Given the description of an element on the screen output the (x, y) to click on. 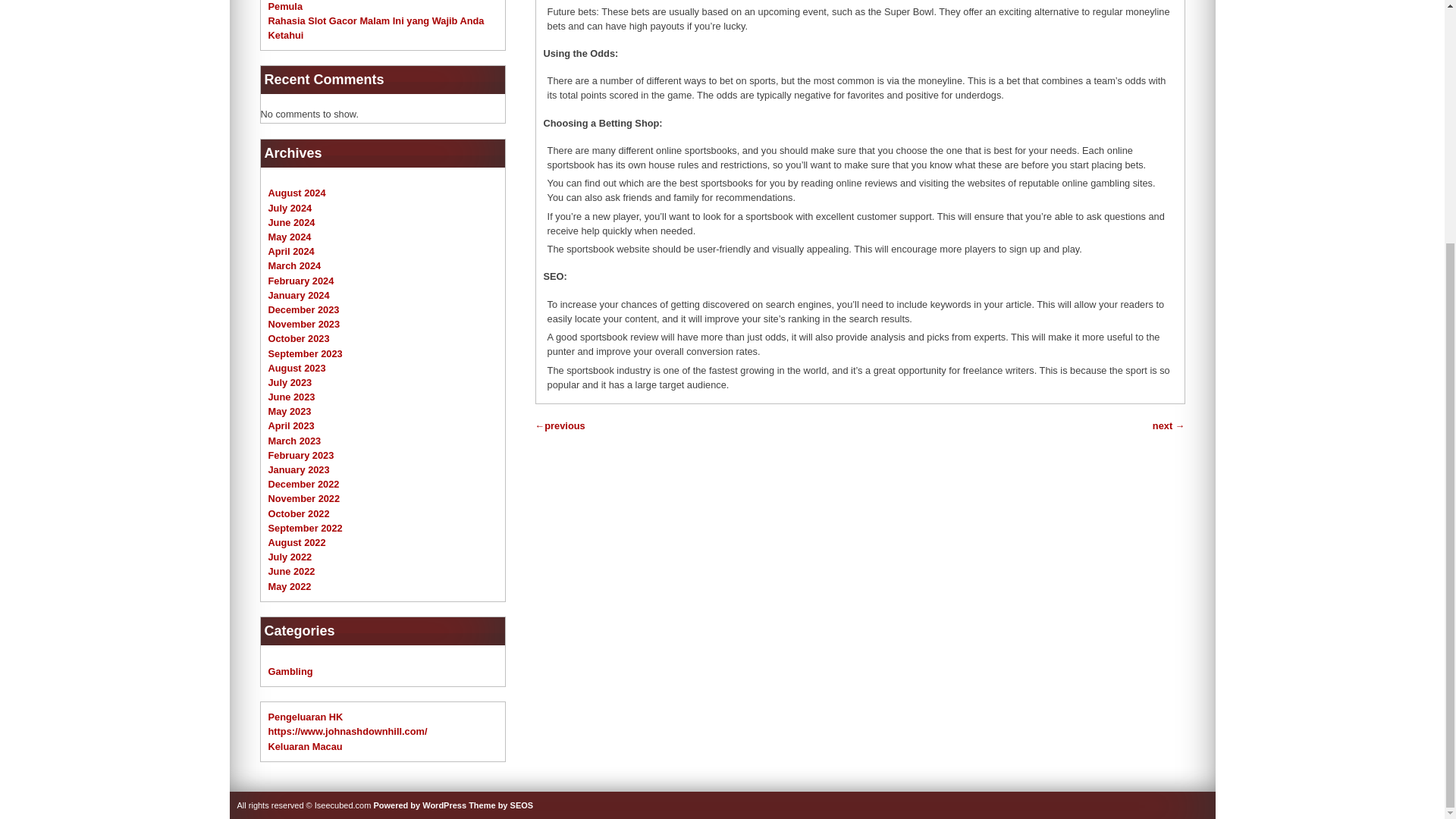
Rahasia Slot Gacor Malam Ini yang Wajib Anda Ketahui (375, 27)
February 2023 (300, 455)
May 2024 (289, 236)
November 2022 (303, 498)
November 2023 (303, 324)
January 2024 (298, 295)
Panduan Bermain Situs IDN Poker Online bagi Pemula (374, 5)
August 2023 (296, 367)
July 2024 (290, 207)
July 2023 (290, 382)
